Given the description of an element on the screen output the (x, y) to click on. 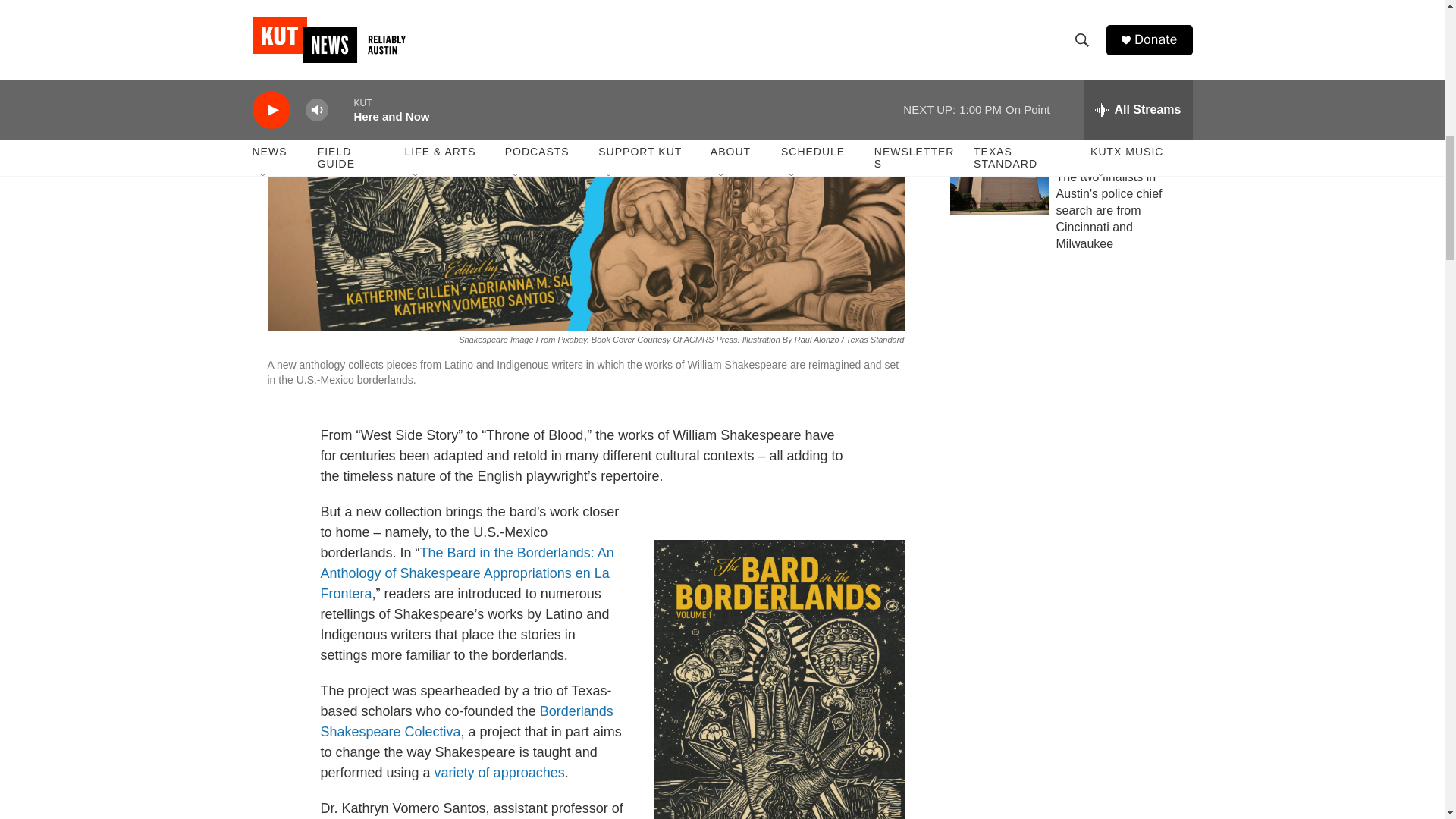
3rd party ad content (1062, 613)
3rd party ad content (1062, 393)
